Given the description of an element on the screen output the (x, y) to click on. 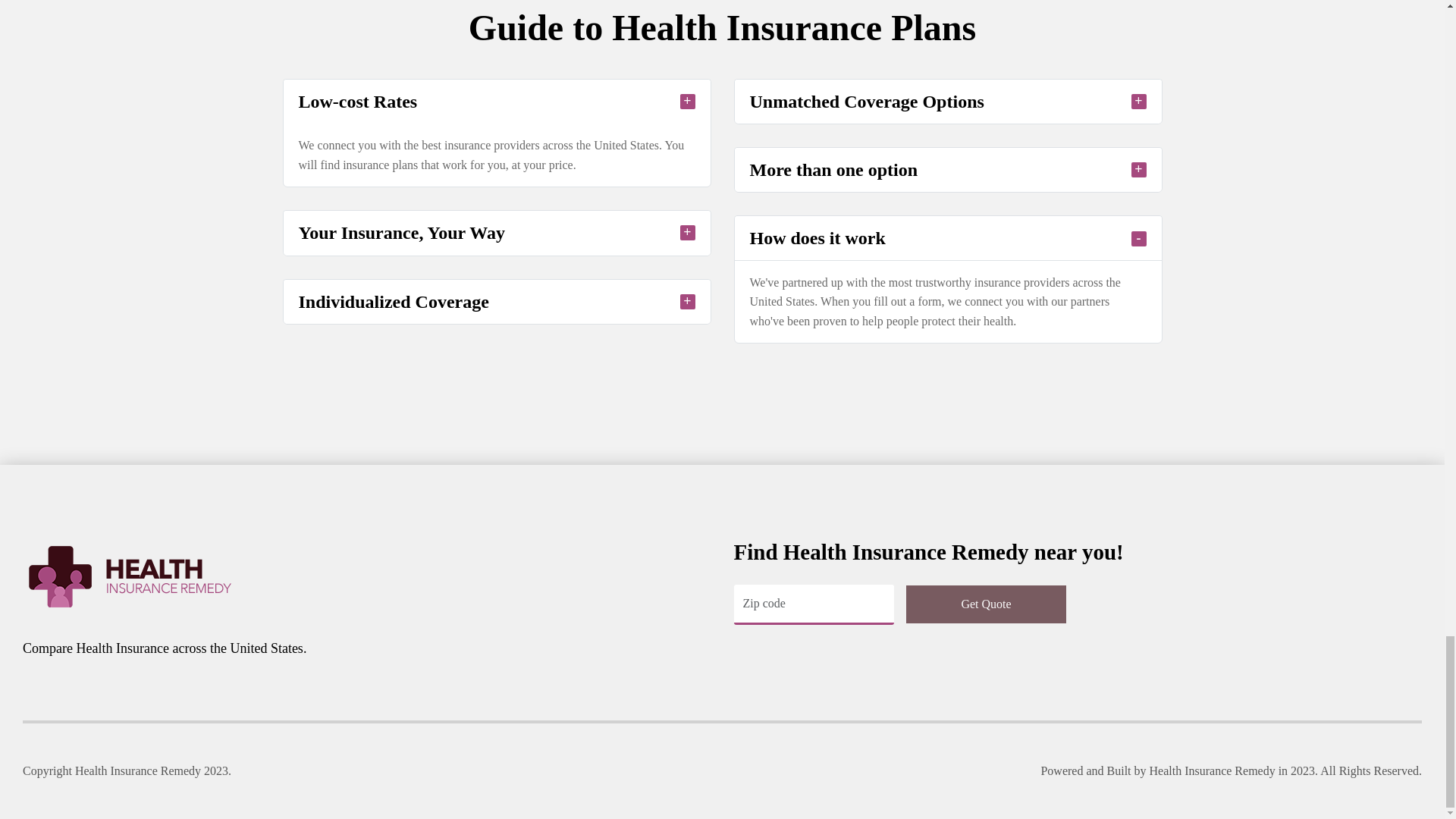
More than one option (946, 169)
Your Insurance, Your Way (496, 232)
Get Quote (985, 604)
Low-cost Rates (496, 101)
Individualized Coverage (496, 300)
Get Quote (985, 604)
How does it work (946, 238)
Unmatched Coverage Options (946, 101)
